Given the description of an element on the screen output the (x, y) to click on. 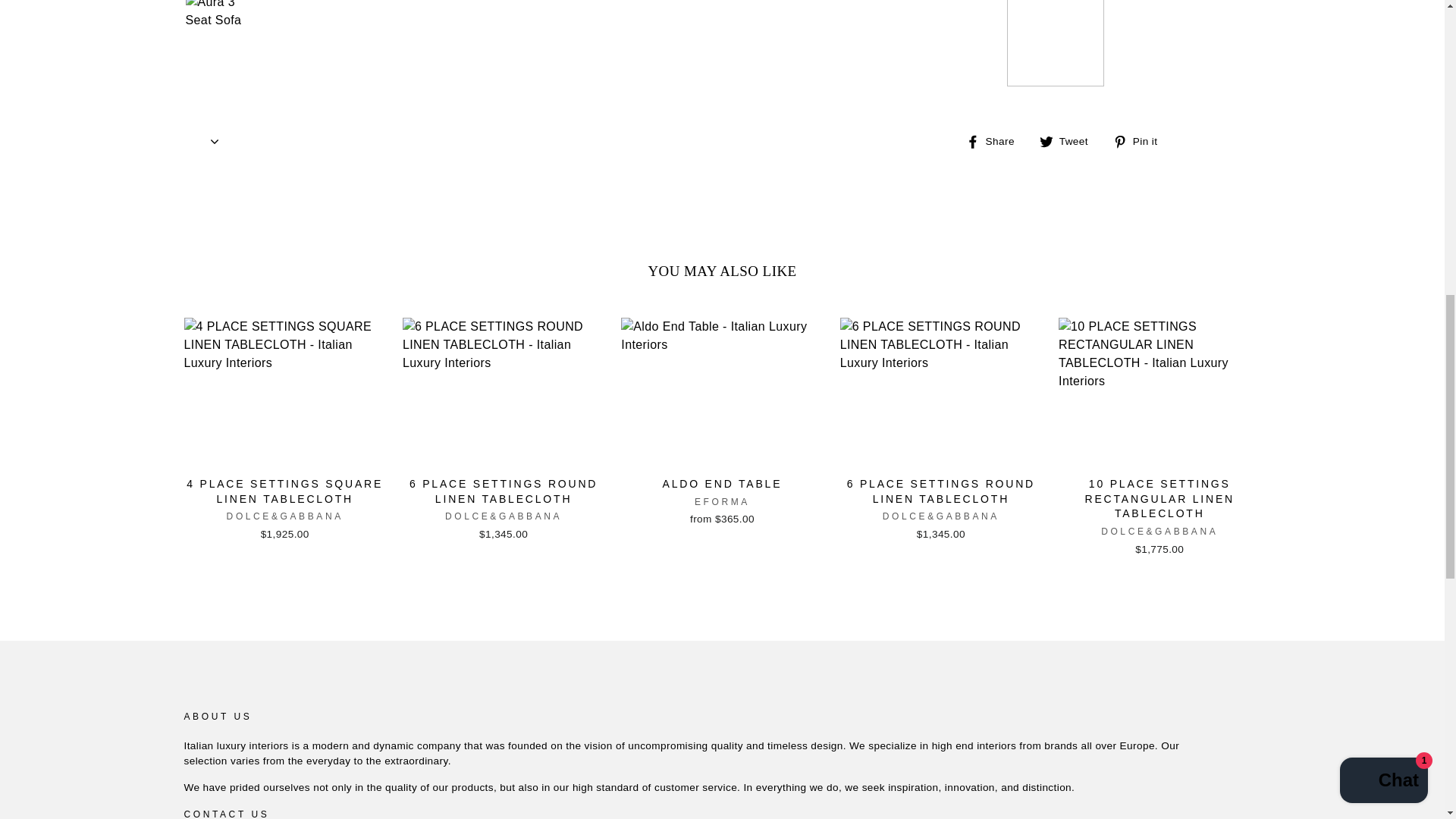
Share on Facebook (996, 140)
Pin on Pinterest (1141, 140)
Tweet on Twitter (1069, 140)
